Given the description of an element on the screen output the (x, y) to click on. 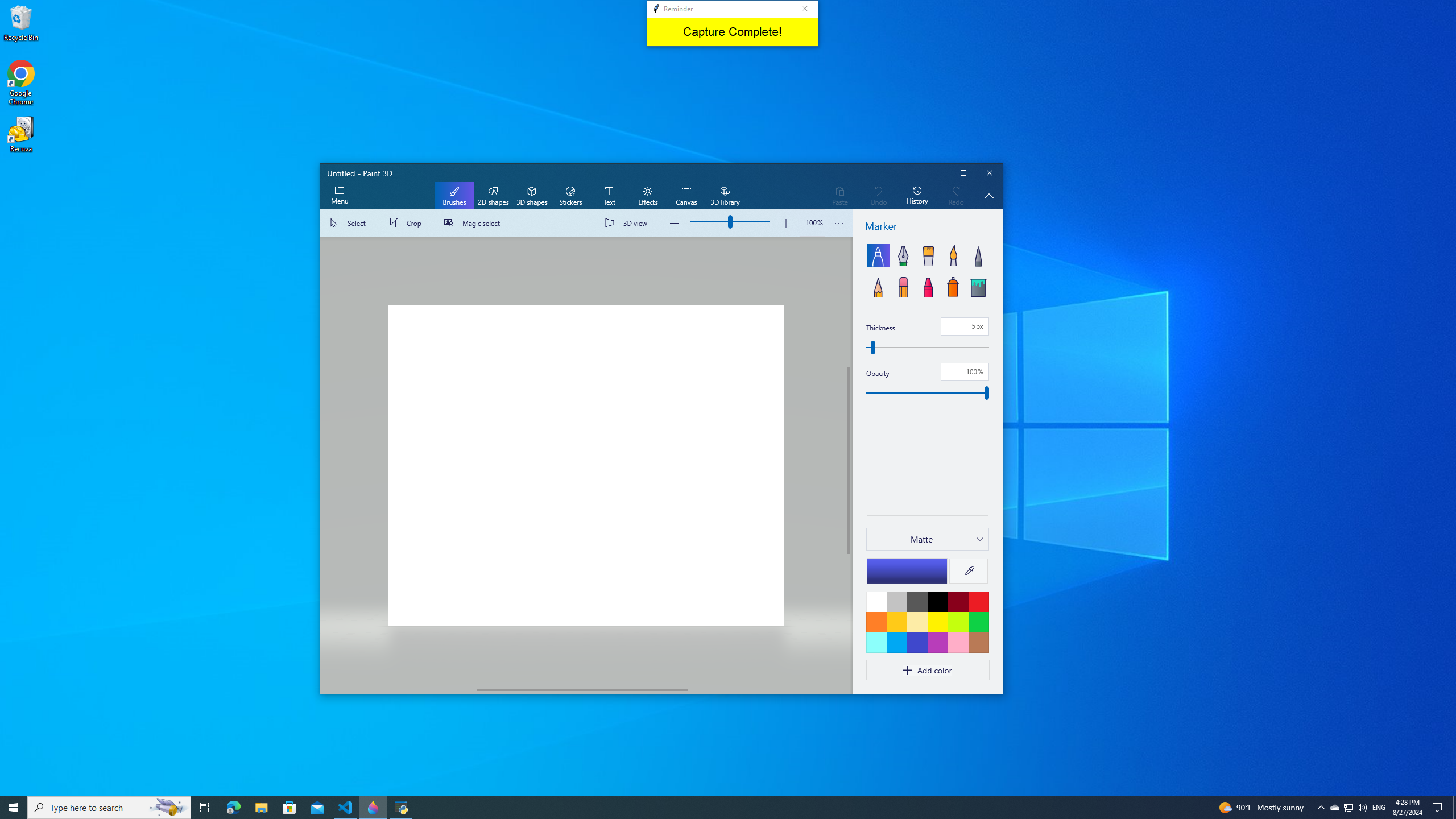
Paint 3D - 1 running window (373, 807)
Eyedropper (968, 570)
Vertical Large Increase (848, 619)
Calligraphy pen (902, 255)
Gold (896, 621)
3D view (628, 222)
Spray can (952, 285)
Lime (957, 621)
2D shapes (492, 195)
Orange (876, 621)
Canvas (686, 195)
Hide description (989, 195)
